Given the description of an element on the screen output the (x, y) to click on. 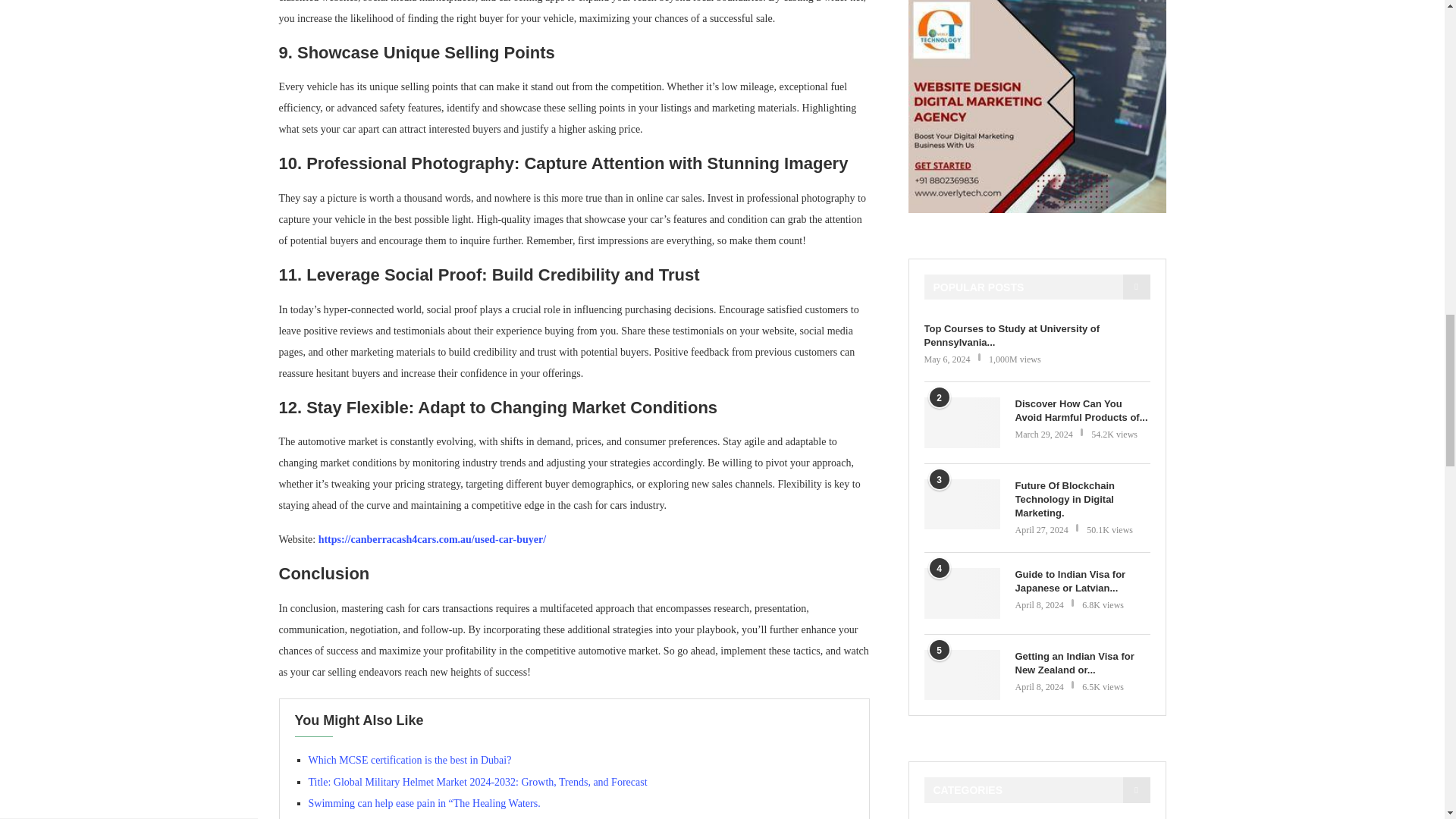
Top Courses to Study at University of Pennsylvania in 2024 (1036, 335)
Guide to Indian Visa for Japanese or Latvian Citizens (960, 593)
Discover How Can You Avoid Harmful Products of USA (1082, 411)
Guide to Indian Visa for Japanese or Latvian Citizens (1082, 581)
Future Of Blockchain Technology  in  Digital Marketing. (1082, 499)
Discover How Can You Avoid Harmful Products of USA (960, 422)
Future Of Blockchain Technology  in  Digital Marketing. (960, 504)
